Given the description of an element on the screen output the (x, y) to click on. 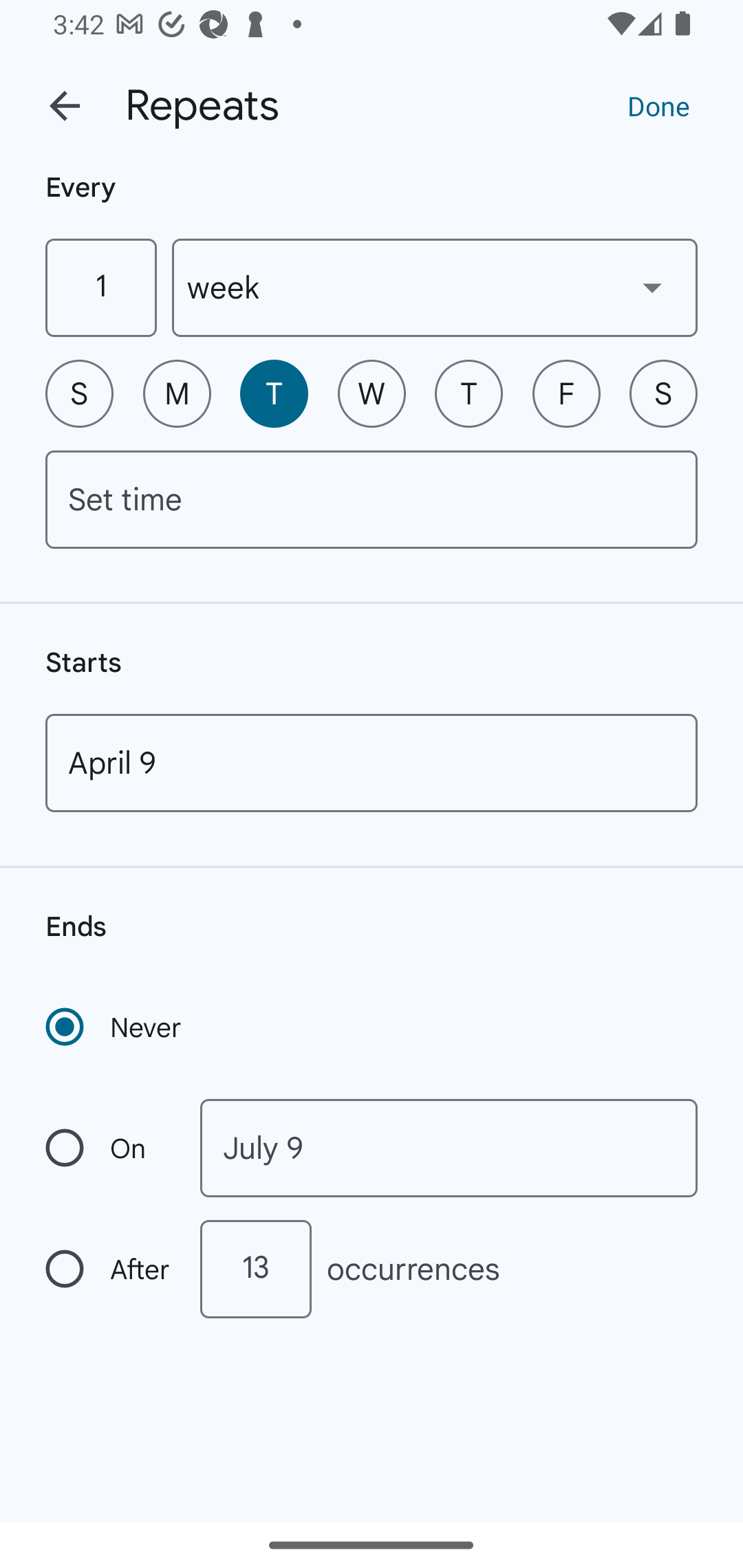
Back (64, 105)
Done (658, 105)
1 (100, 287)
week (434, 287)
Show dropdown menu (652, 286)
S Sunday (79, 393)
M Monday (177, 393)
T Tuesday, selected (273, 393)
W Wednesday (371, 393)
T Thursday (468, 393)
F Friday (566, 393)
S Saturday (663, 393)
Set time (371, 499)
April 9 (371, 762)
Never Recurrence never ends (115, 1026)
July 9 (448, 1148)
On Recurrence ends on a specific date (109, 1148)
13 (255, 1268)
